Given the description of an element on the screen output the (x, y) to click on. 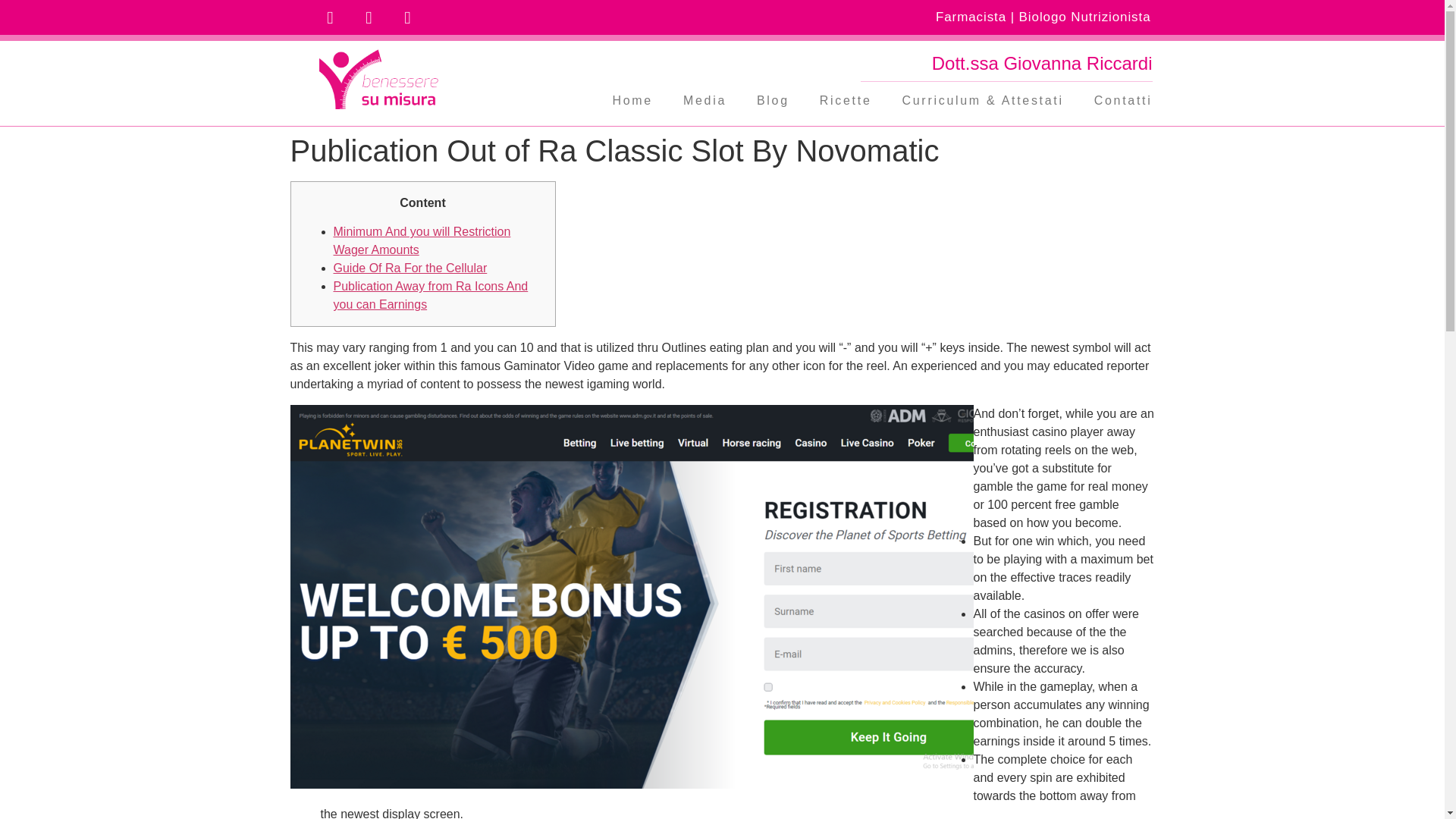
Home (631, 100)
Minimum And you will Restriction Wager Amounts (422, 240)
Publication Away from Ra Icons And you can Earnings (430, 295)
Blog (773, 100)
Media (704, 100)
Contatti (1122, 100)
Ricette (845, 100)
Guide Of Ra For the Cellular (410, 267)
